Given the description of an element on the screen output the (x, y) to click on. 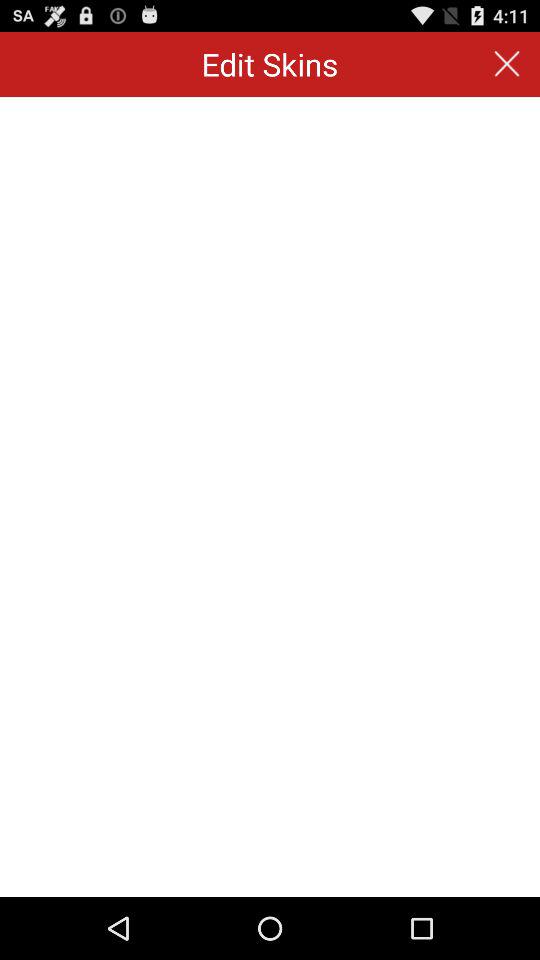
choose the icon next to the edit skins item (506, 64)
